Given the description of an element on the screen output the (x, y) to click on. 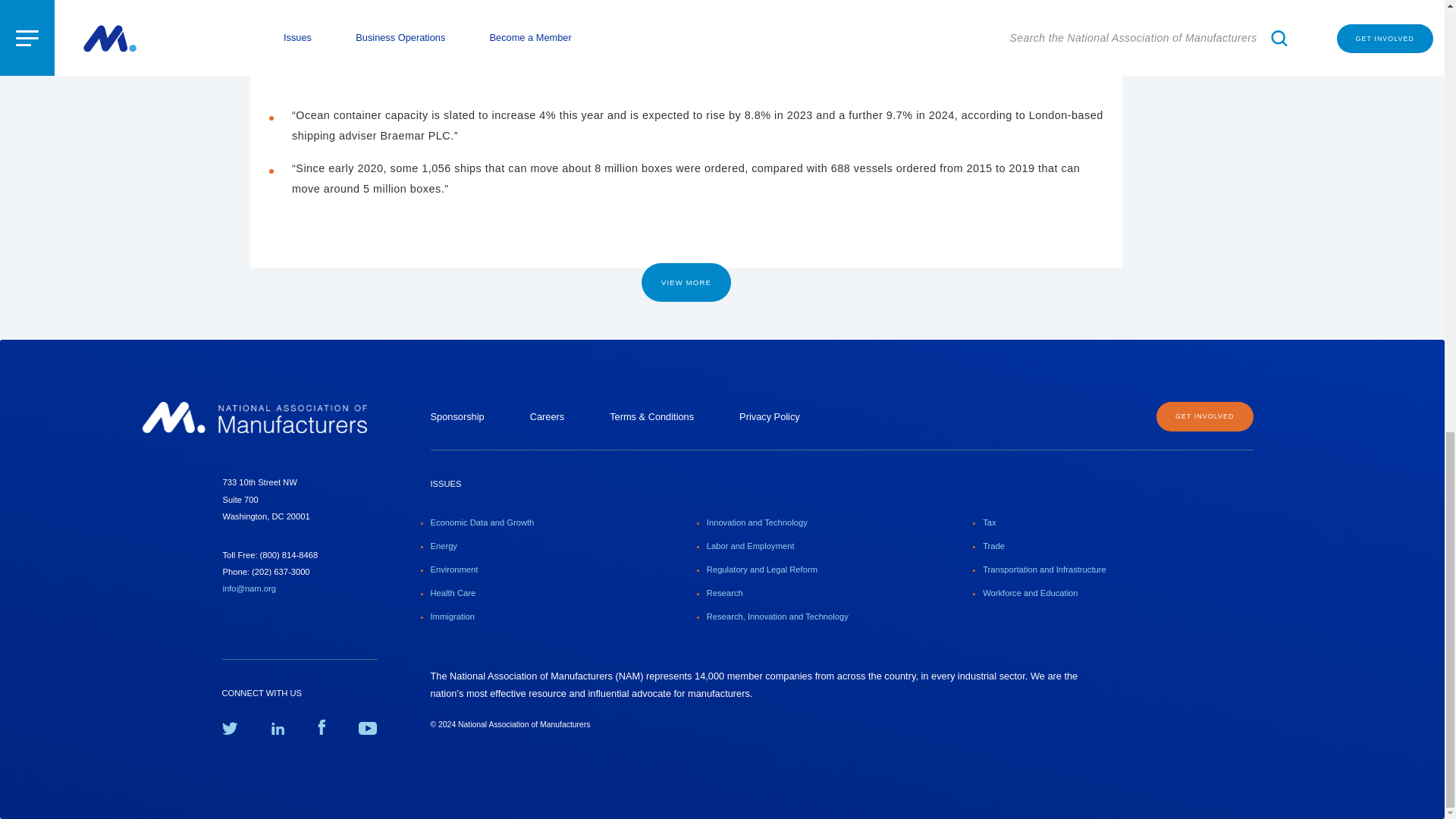
GET INVOLVED (1204, 416)
Sponsorship (457, 416)
Careers (546, 416)
Economic Data and Growth (482, 522)
Privacy Policy (769, 416)
VIEW MORE (686, 282)
